Given the description of an element on the screen output the (x, y) to click on. 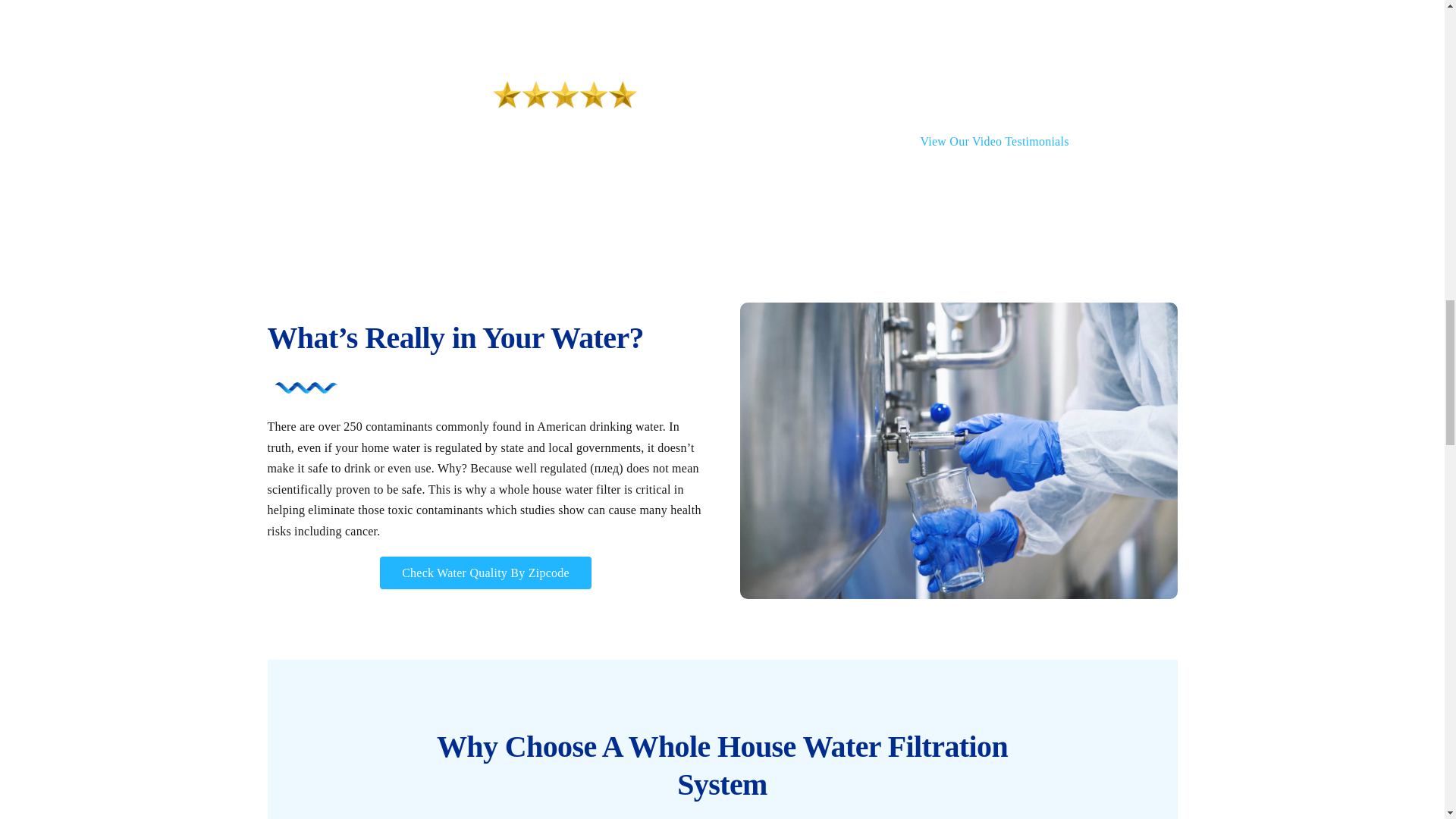
We Support Water 4 Mercy (1037, 3)
About Wellness Water (406, 3)
View Our Video Testimonials (994, 141)
